Given the description of an element on the screen output the (x, y) to click on. 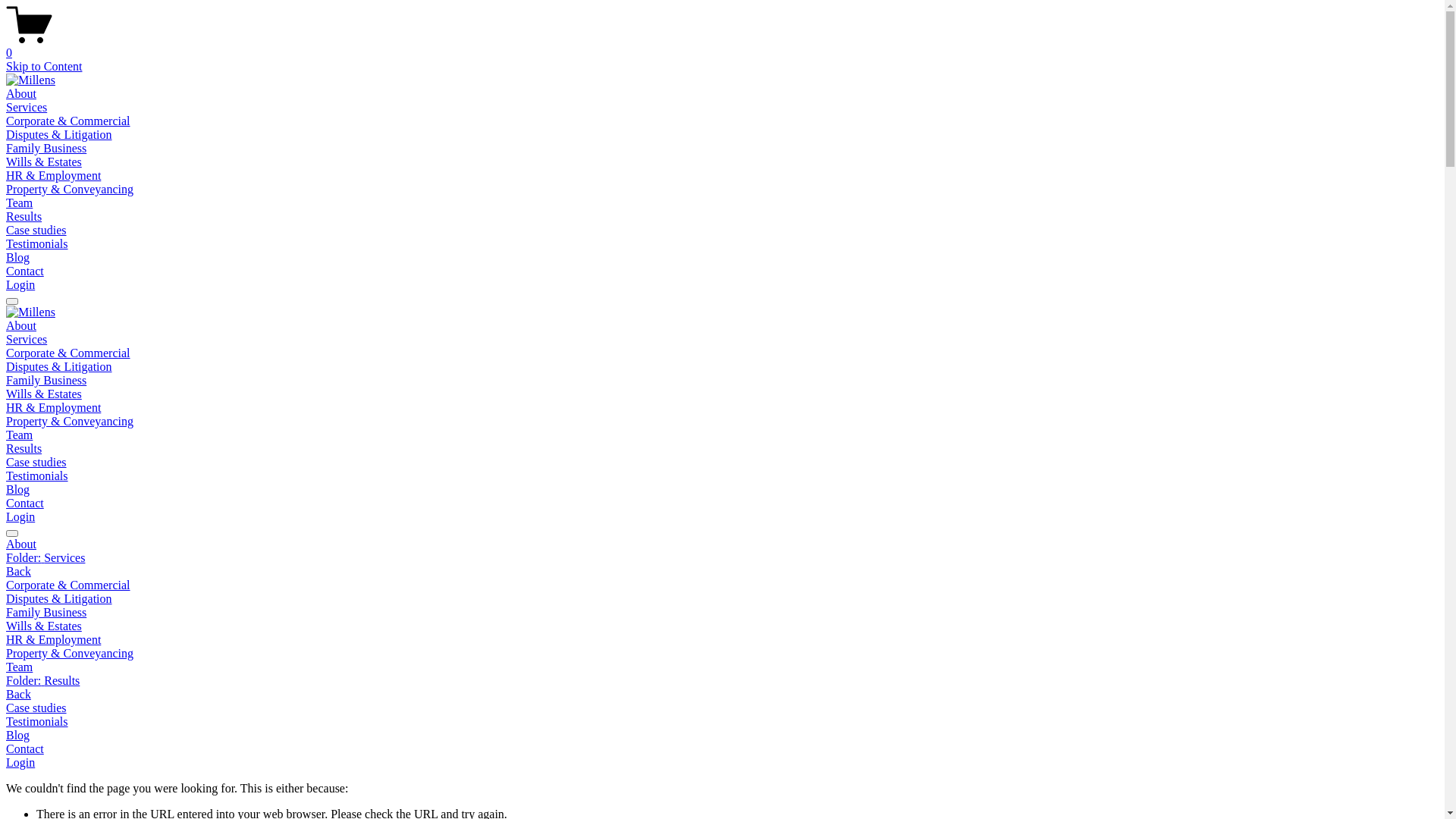
HR & Employment Element type: text (722, 639)
Back Element type: text (18, 693)
Case studies Element type: text (36, 229)
Contact Element type: text (24, 502)
Corporate & Commercial Element type: text (68, 352)
Folder: Results Element type: text (722, 680)
0 Element type: text (722, 45)
Property & Conveyancing Element type: text (69, 420)
Folder: Services Element type: text (722, 557)
Family Business Element type: text (46, 379)
Contact Element type: text (24, 270)
Wills & Estates Element type: text (722, 626)
HR & Employment Element type: text (53, 175)
Services Element type: text (26, 106)
HR & Employment Element type: text (53, 407)
Team Element type: text (722, 667)
Contact Element type: text (722, 749)
Testimonials Element type: text (722, 721)
Login Element type: text (20, 284)
Back Element type: text (18, 570)
About Element type: text (722, 544)
About Element type: text (21, 325)
Case studies Element type: text (722, 708)
About Element type: text (21, 93)
Team Element type: text (19, 434)
Results Element type: text (23, 448)
Property & Conveyancing Element type: text (69, 188)
Family Business Element type: text (46, 147)
Skip to Content Element type: text (43, 65)
Blog Element type: text (17, 489)
Case studies Element type: text (36, 461)
Blog Element type: text (722, 735)
Results Element type: text (23, 216)
Property & Conveyancing Element type: text (722, 653)
Testimonials Element type: text (37, 475)
Testimonials Element type: text (37, 243)
Disputes & Litigation Element type: text (722, 598)
Blog Element type: text (17, 257)
Wills & Estates Element type: text (43, 393)
Wills & Estates Element type: text (43, 161)
Login Element type: text (20, 762)
Disputes & Litigation Element type: text (59, 134)
Family Business Element type: text (722, 612)
Team Element type: text (19, 202)
Disputes & Litigation Element type: text (59, 366)
Services Element type: text (26, 338)
Corporate & Commercial Element type: text (68, 120)
Corporate & Commercial Element type: text (722, 585)
Login Element type: text (20, 516)
